Given the description of an element on the screen output the (x, y) to click on. 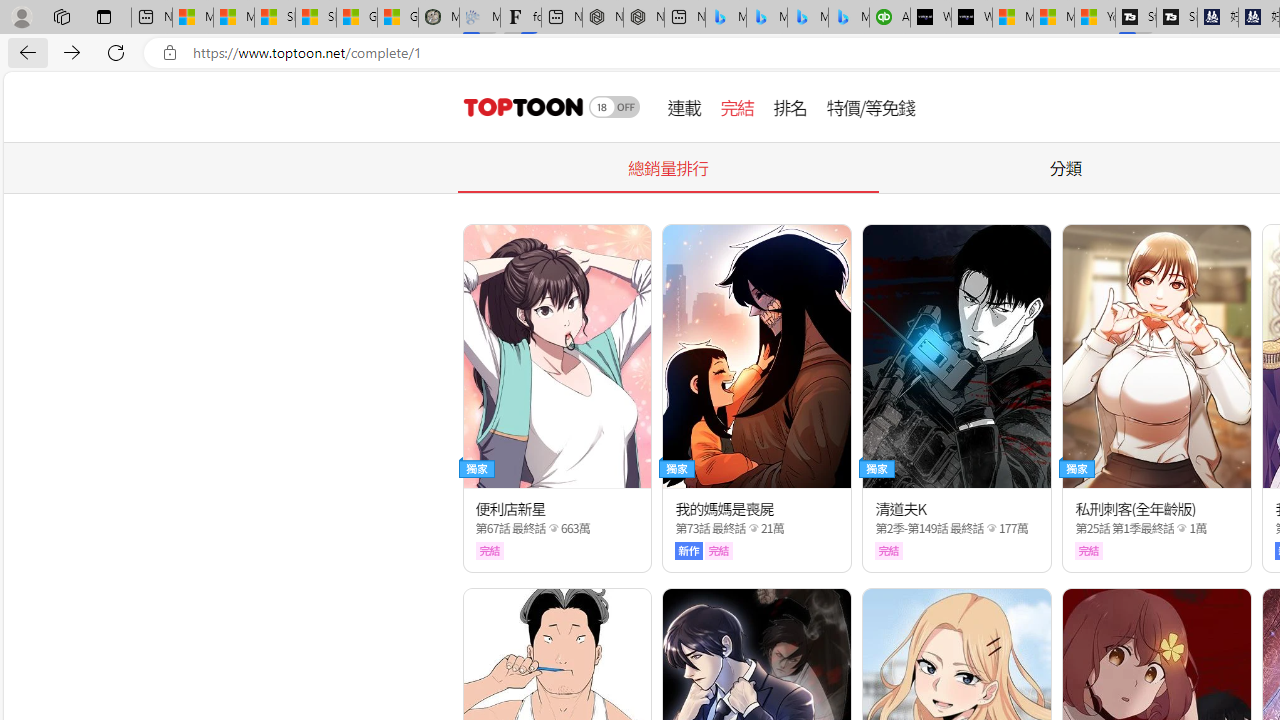
header (519, 106)
Class: epicon_starpoint (1182, 527)
Microsoft Bing Travel - Shangri-La Hotel Bangkok (849, 17)
